Given the description of an element on the screen output the (x, y) to click on. 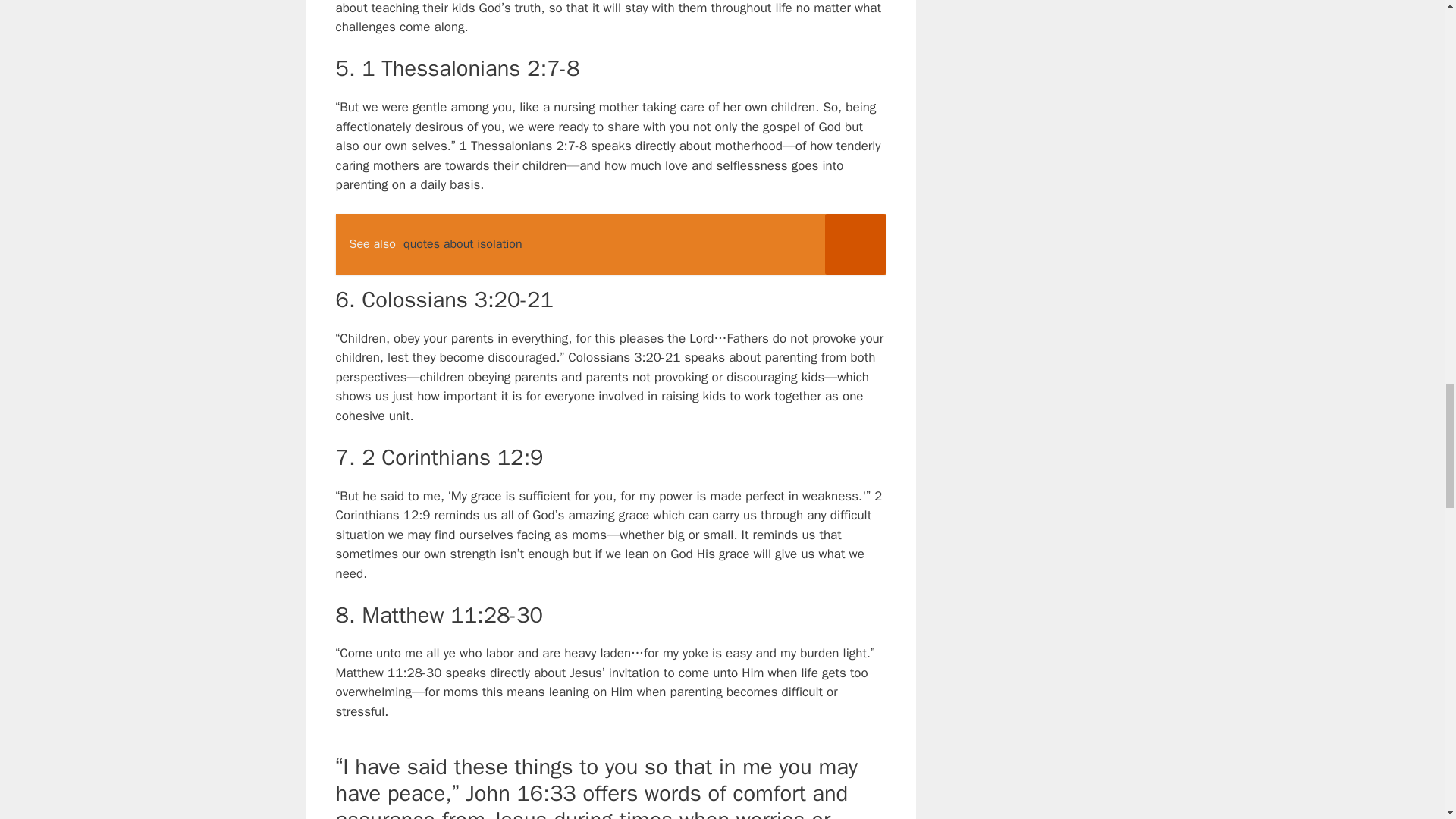
See also  quotes about isolation (609, 243)
